Given the description of an element on the screen output the (x, y) to click on. 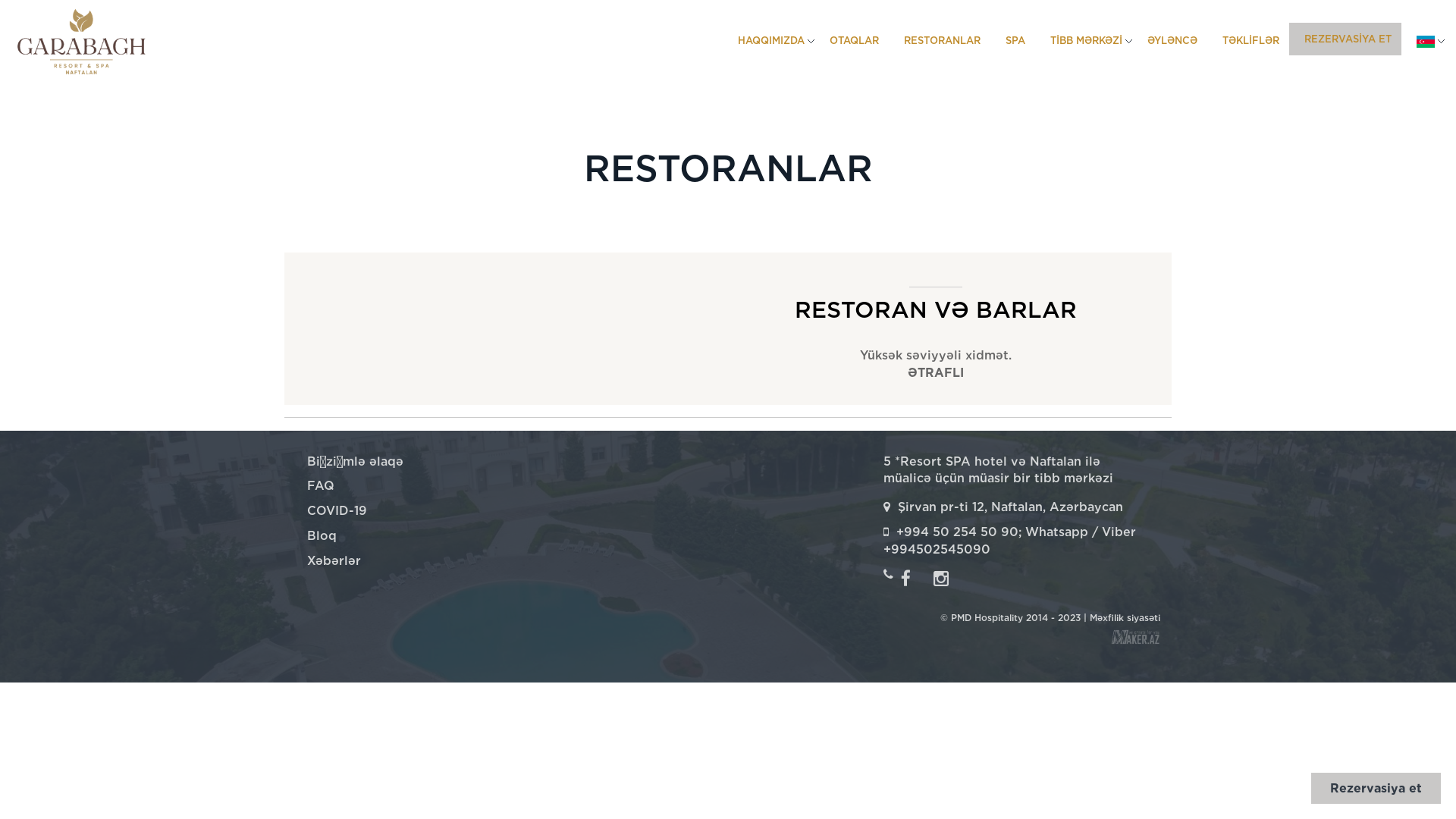
FAQ Element type: text (320, 485)
Rezervasiya et Element type: text (1375, 787)
Bloq Element type: text (321, 535)
RESTORANLAR Element type: text (939, 40)
SPA Element type: text (1012, 40)
+994 50 254 50 90; Whatsapp / Viber +994502545090 Element type: text (1009, 540)
HAQQIMIZDA Element type: text (768, 40)
REZERVASIYA ET Element type: text (1345, 38)
OTAQLAR Element type: text (851, 40)
COVID-19 Element type: text (337, 510)
